Given the description of an element on the screen output the (x, y) to click on. 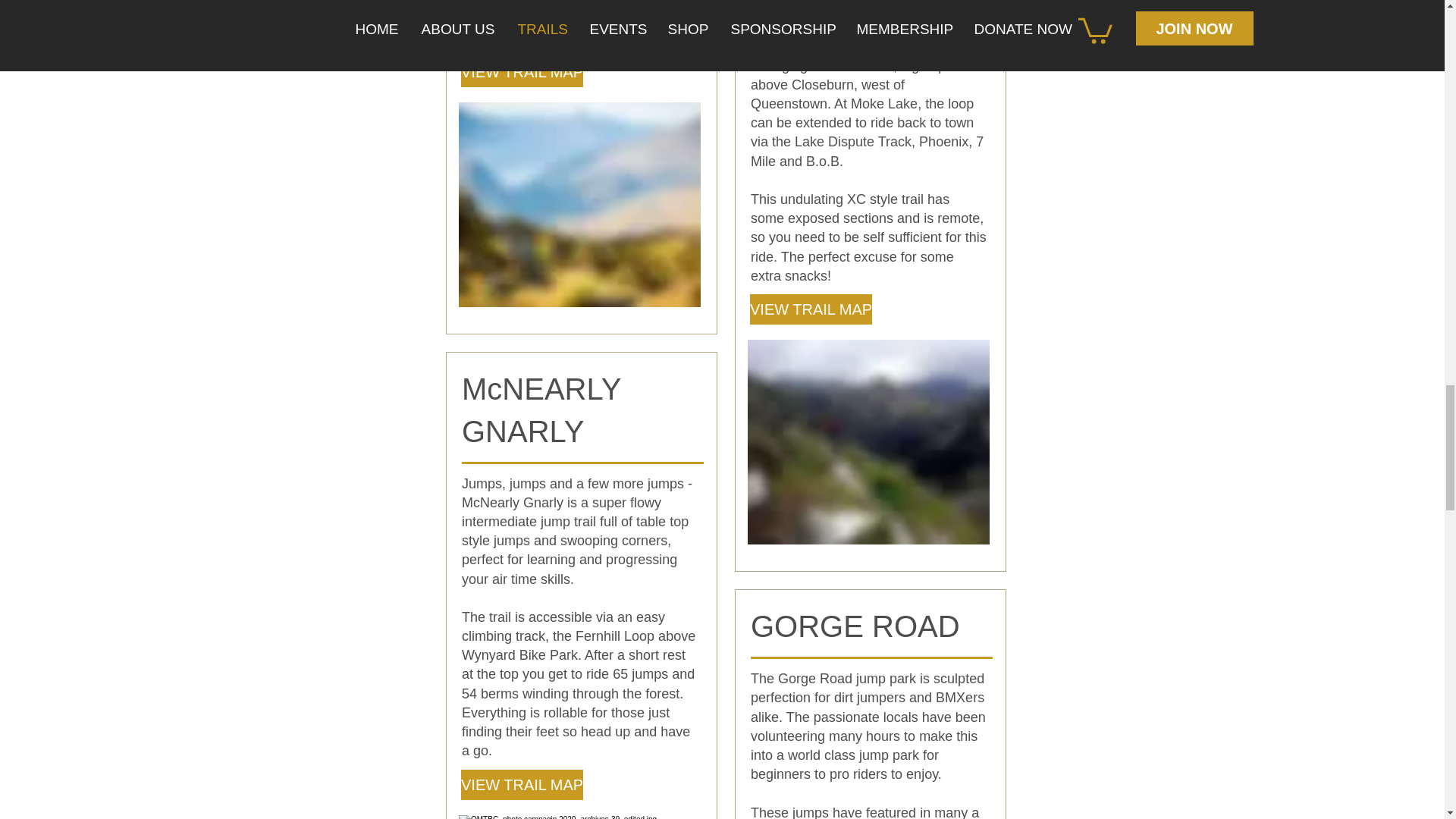
VIEW TRAIL MAP (522, 784)
VIEW TRAIL MAP (522, 71)
VIEW TRAIL MAP (810, 309)
